Given the description of an element on the screen output the (x, y) to click on. 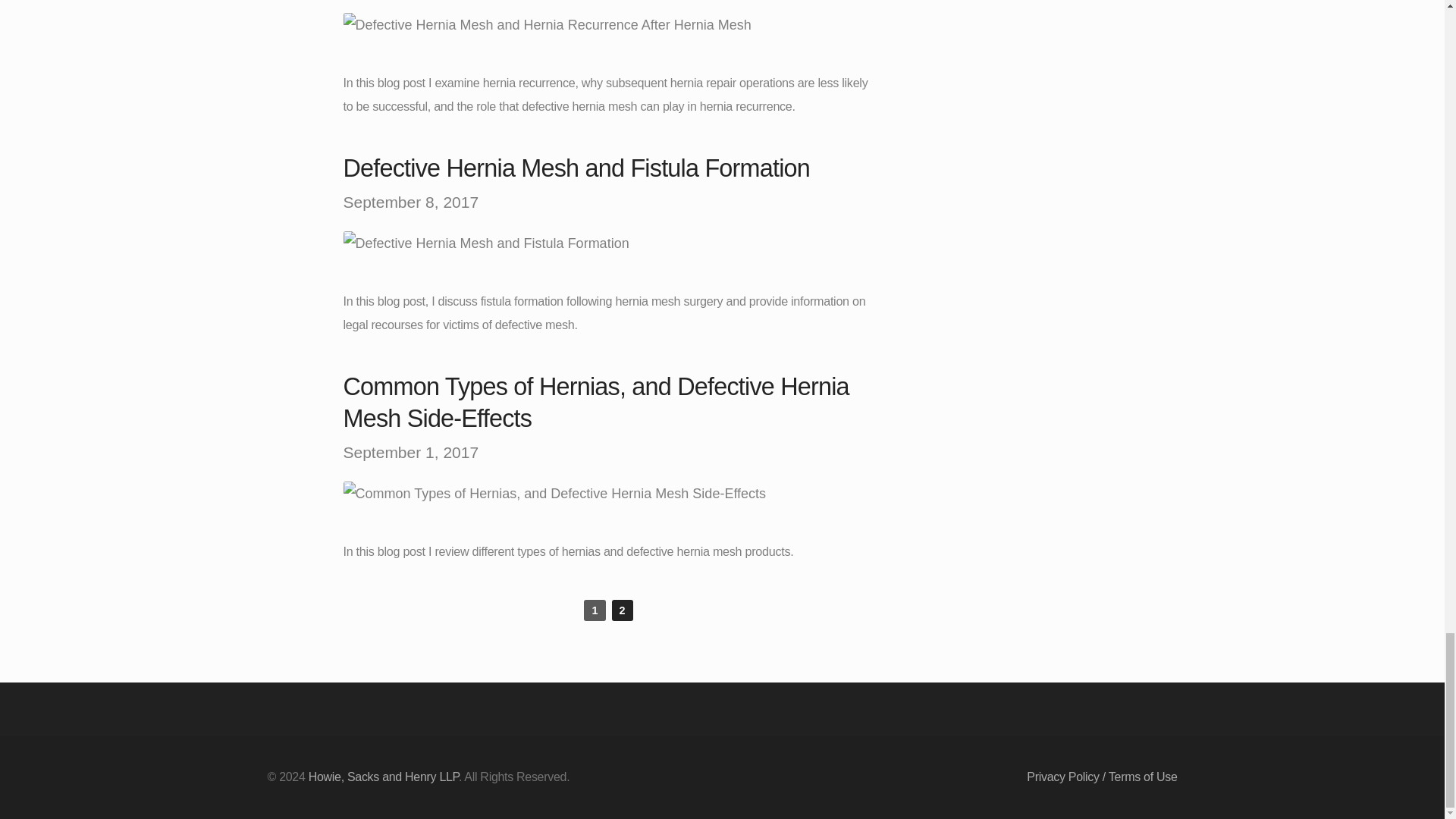
Defective Hernia Mesh and Fistula Formation (485, 242)
